Given the description of an element on the screen output the (x, y) to click on. 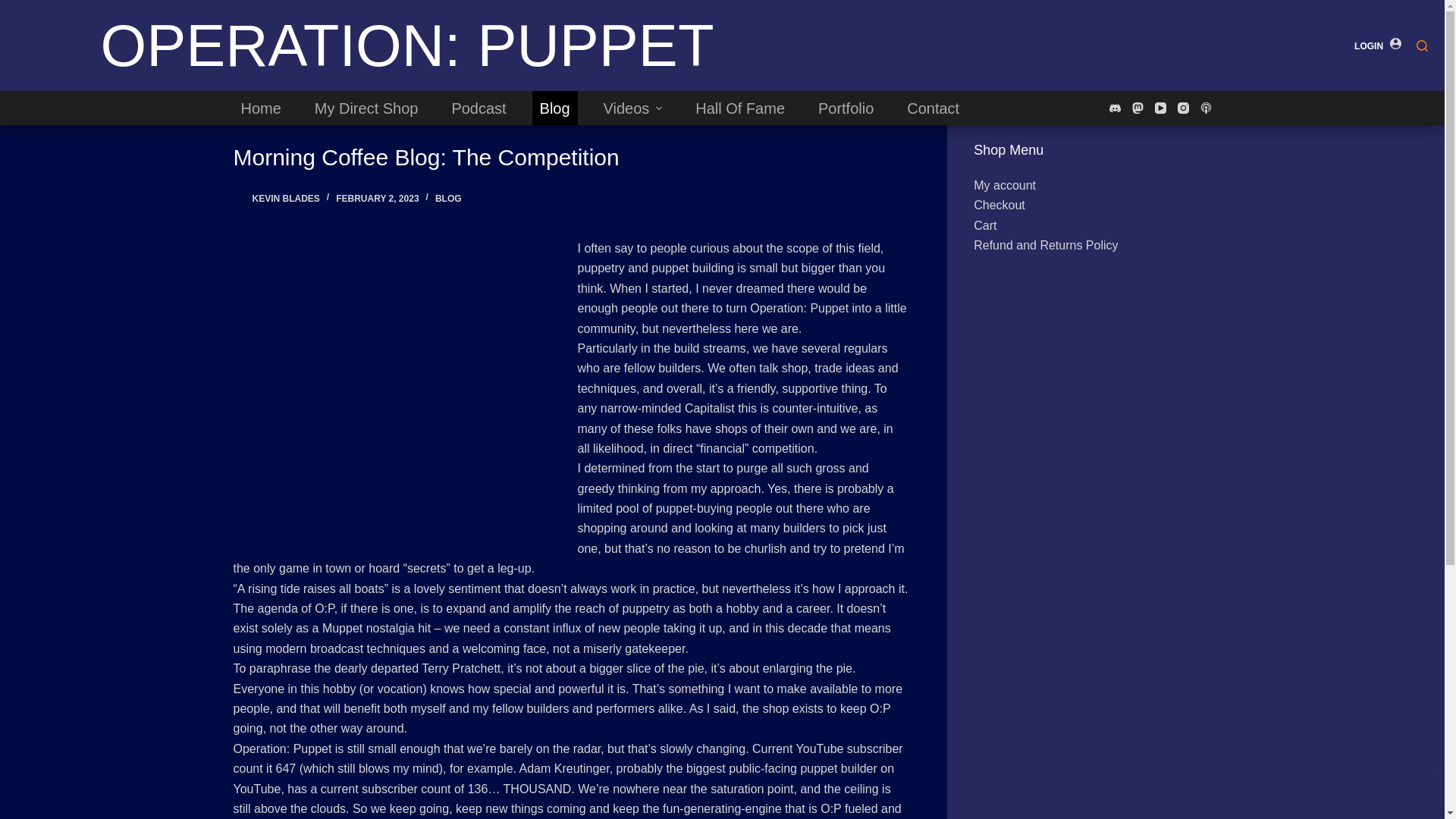
Home (260, 107)
OPERATION: PUPPET (406, 45)
Portfolio (845, 107)
Morning Coffee Blog: The Competition (570, 157)
Posts by Kevin Blades (284, 198)
LOGIN (1377, 45)
Skip to content (15, 7)
My Direct Shop (366, 107)
Hall Of Fame (739, 107)
Videos (632, 107)
